Given the description of an element on the screen output the (x, y) to click on. 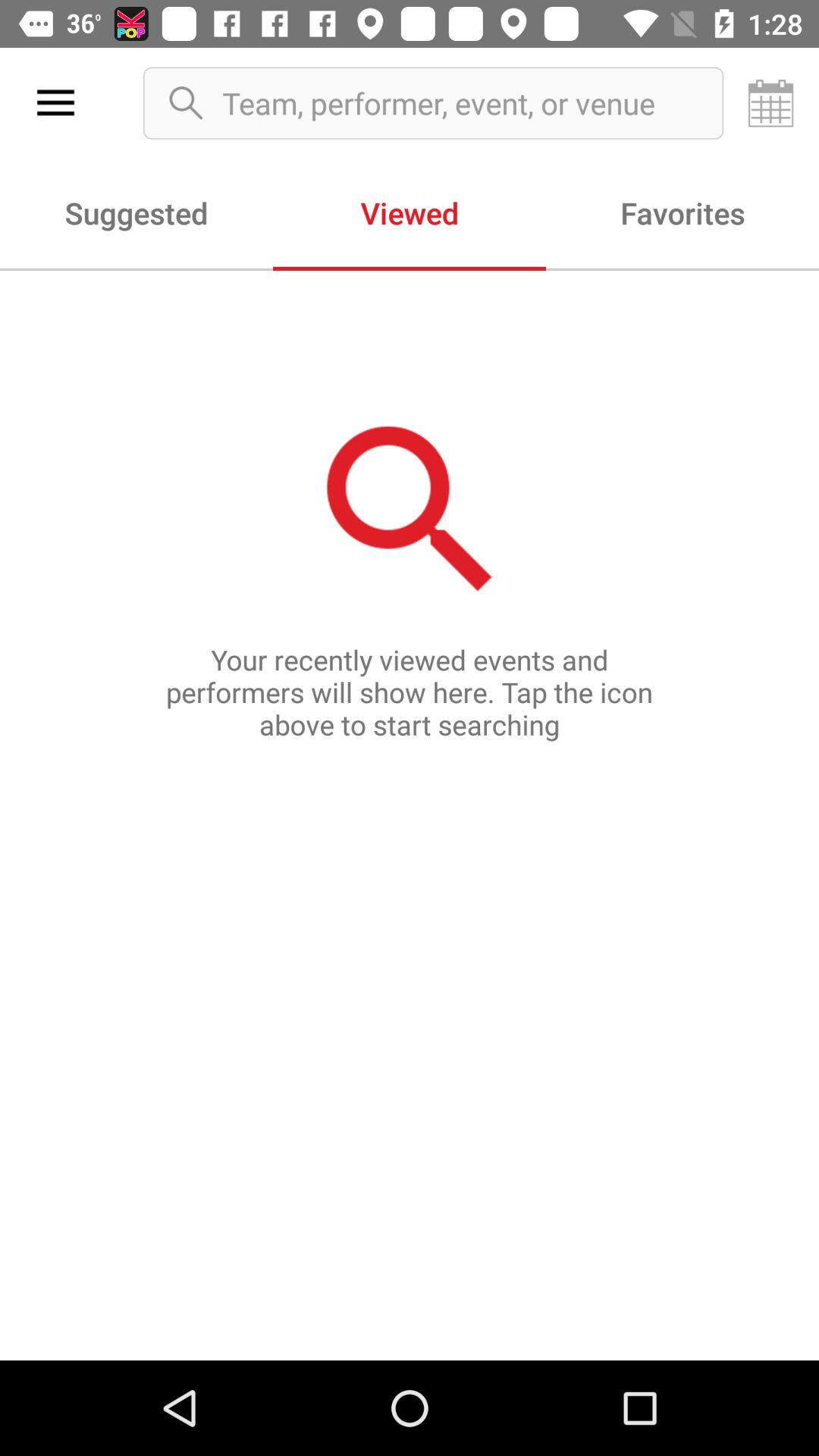
choose suggested icon (136, 212)
